Given the description of an element on the screen output the (x, y) to click on. 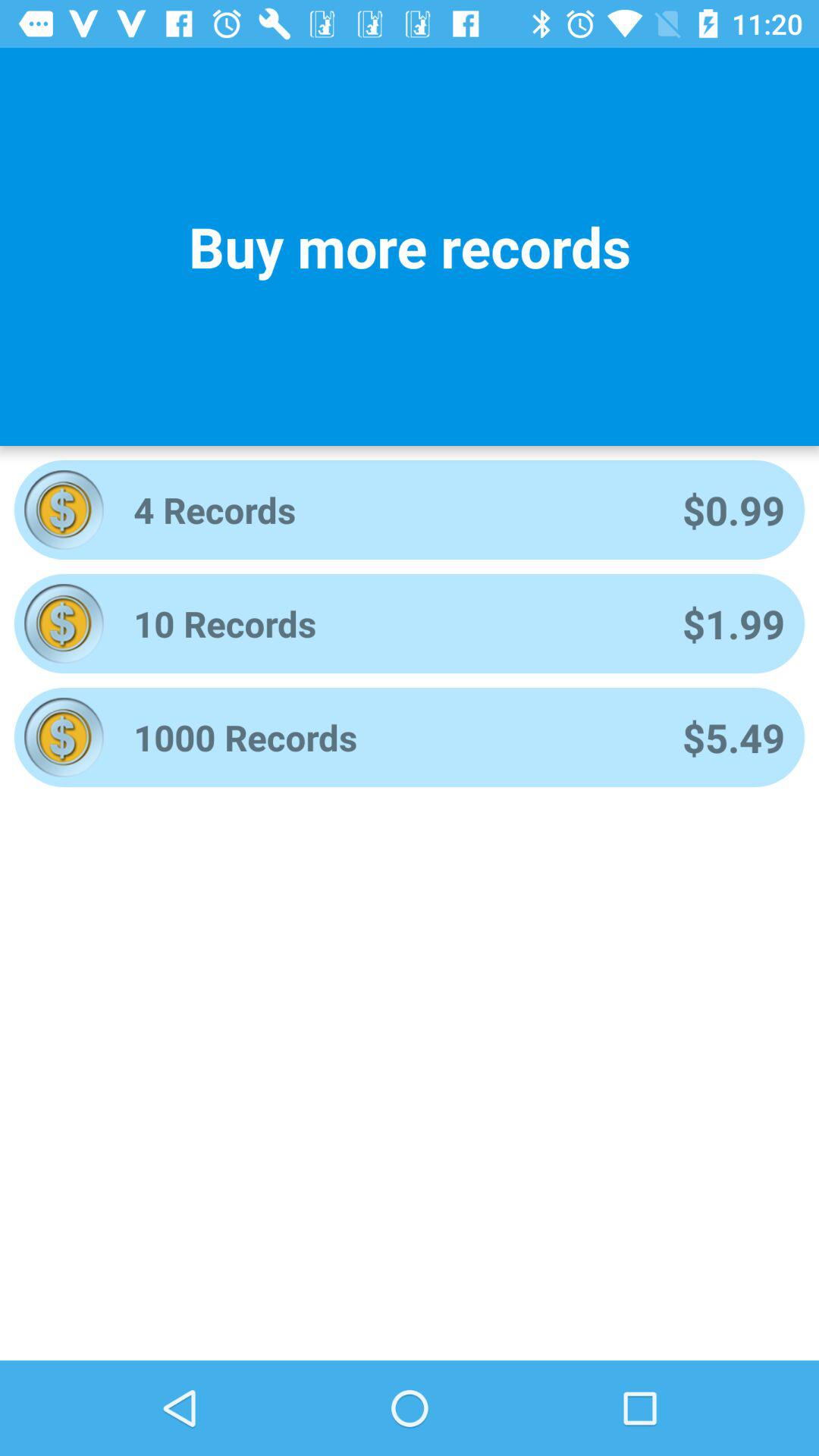
launch the item next to the 1000 records app (733, 737)
